Given the description of an element on the screen output the (x, y) to click on. 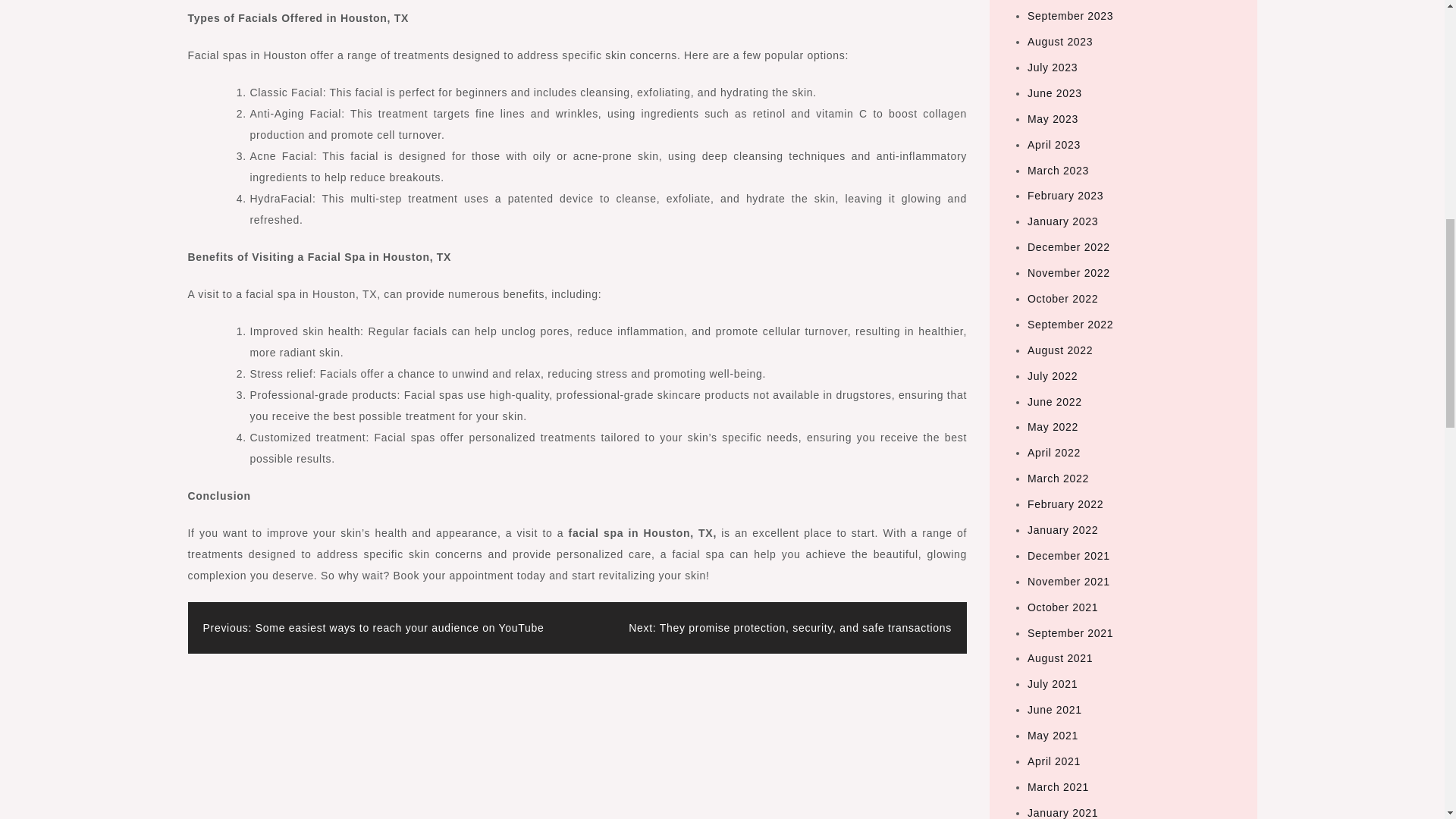
September 2023 (1070, 15)
August 2023 (1060, 41)
May 2023 (1052, 119)
January 2023 (1062, 221)
April 2023 (1053, 144)
June 2023 (1054, 92)
February 2023 (1065, 195)
July 2023 (1052, 67)
December 2022 (1068, 246)
March 2023 (1058, 170)
